Given the description of an element on the screen output the (x, y) to click on. 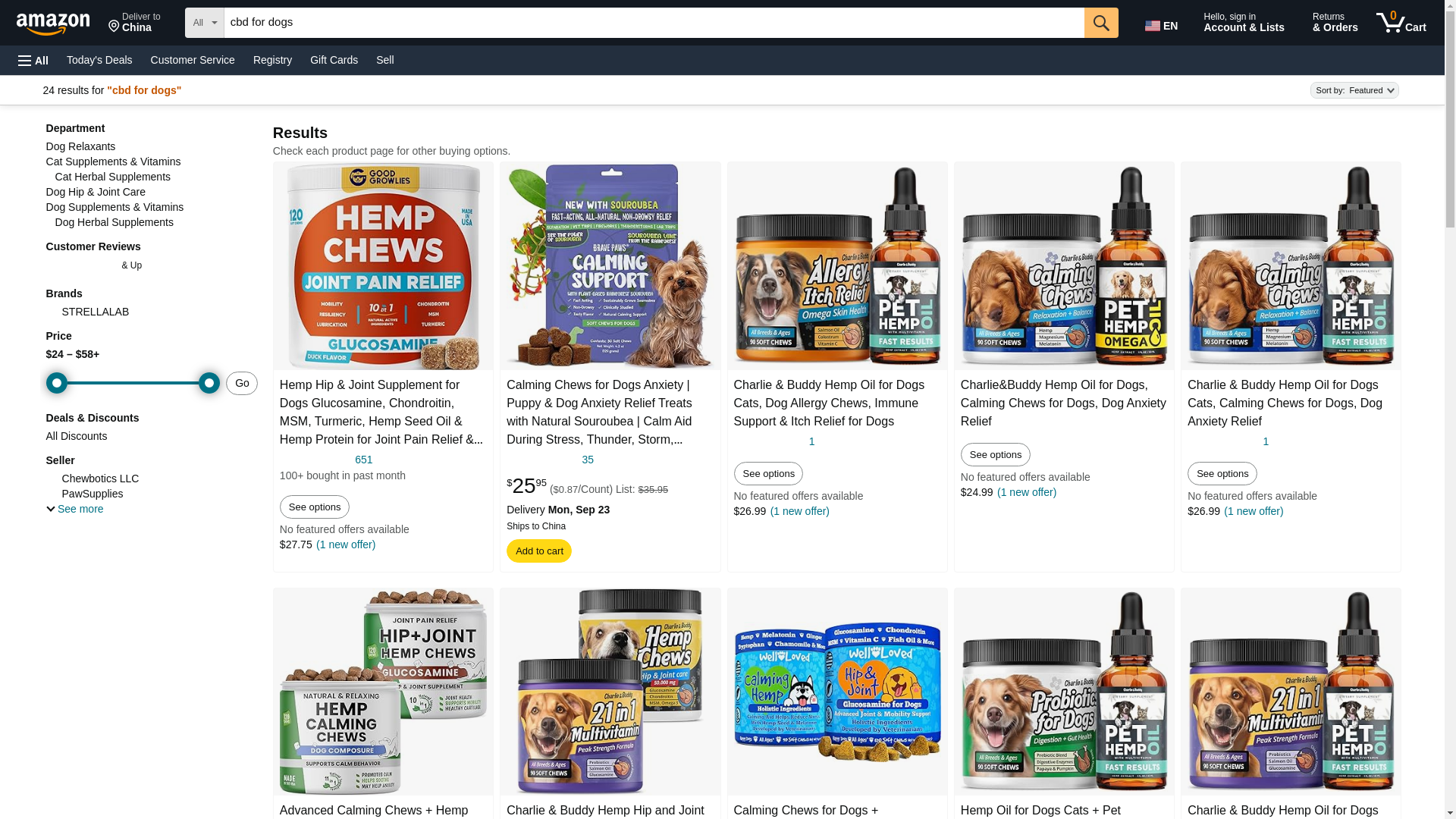
30 (134, 22)
651 (133, 382)
cbd for dogs (363, 460)
Go (654, 22)
EN (1101, 22)
All (1163, 22)
Registry (33, 60)
Add to cart (272, 59)
See options (538, 550)
